Given the description of an element on the screen output the (x, y) to click on. 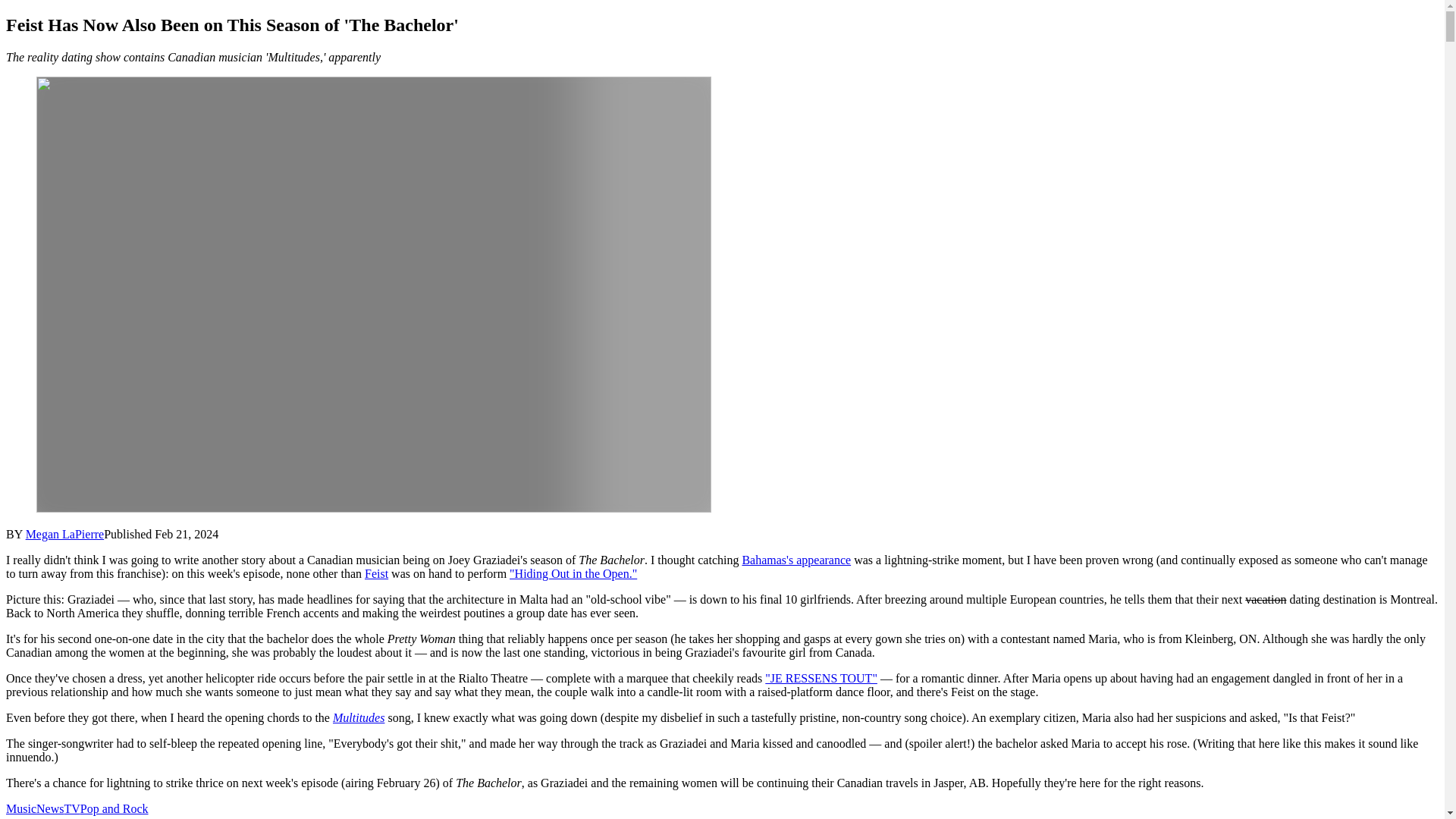
News (50, 808)
"JE RESSENS TOUT" (821, 677)
Feist (376, 573)
Music (20, 808)
Multitudes (358, 717)
"Hiding Out in the Open." (573, 573)
TV (72, 808)
Pop and Rock (114, 808)
Megan LaPierre (65, 533)
Bahamas's appearance (795, 559)
